Given the description of an element on the screen output the (x, y) to click on. 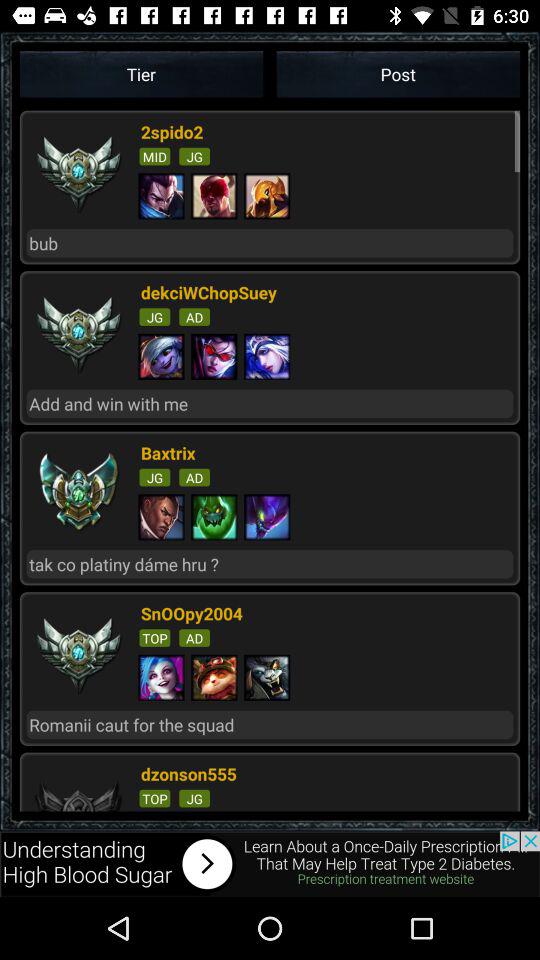
go to advertisement (270, 864)
